Given the description of an element on the screen output the (x, y) to click on. 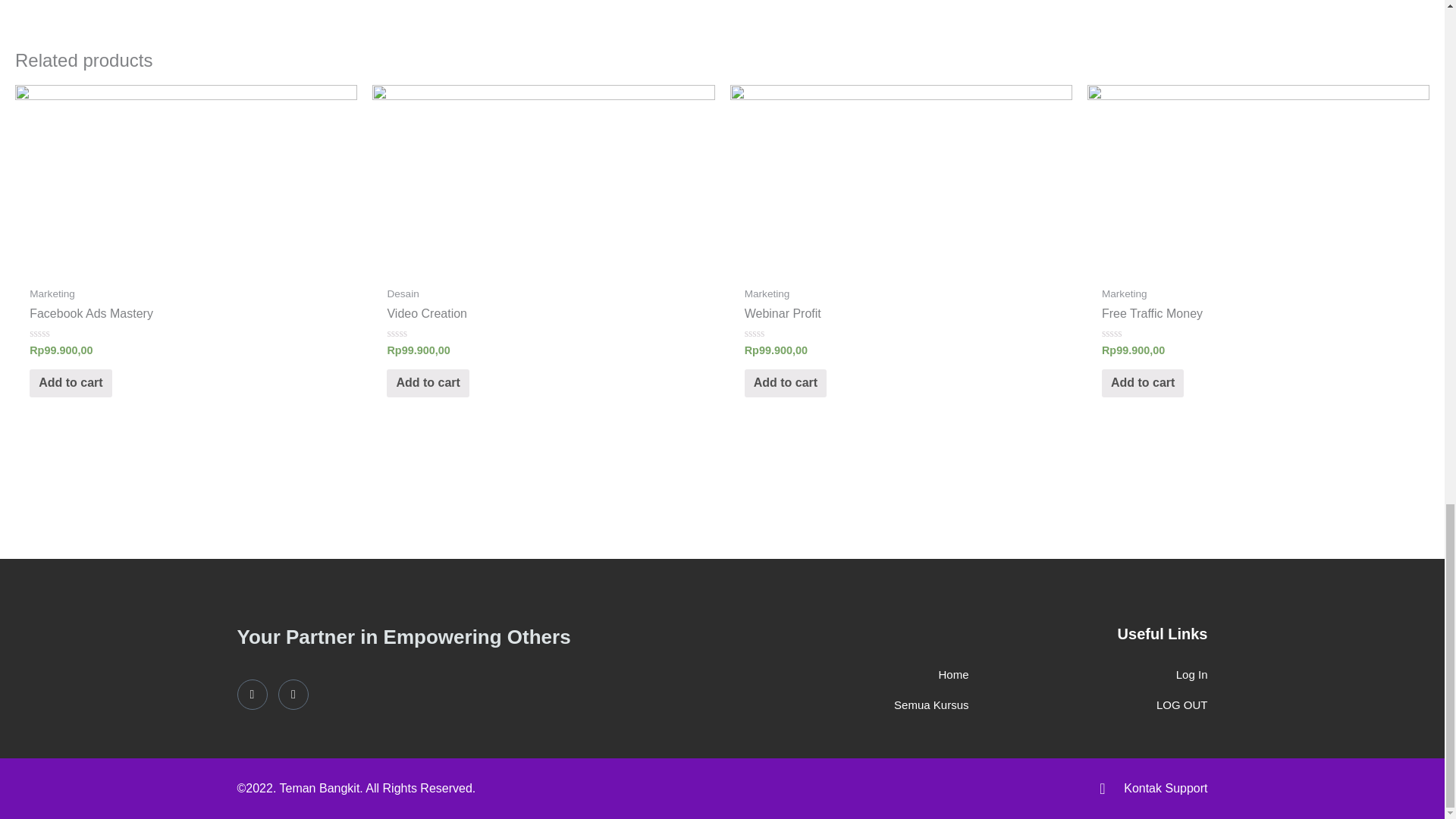
Video Creation (543, 314)
Add to cart (70, 383)
Add to cart (427, 383)
Facebook Ads Mastery (185, 314)
